Given the description of an element on the screen output the (x, y) to click on. 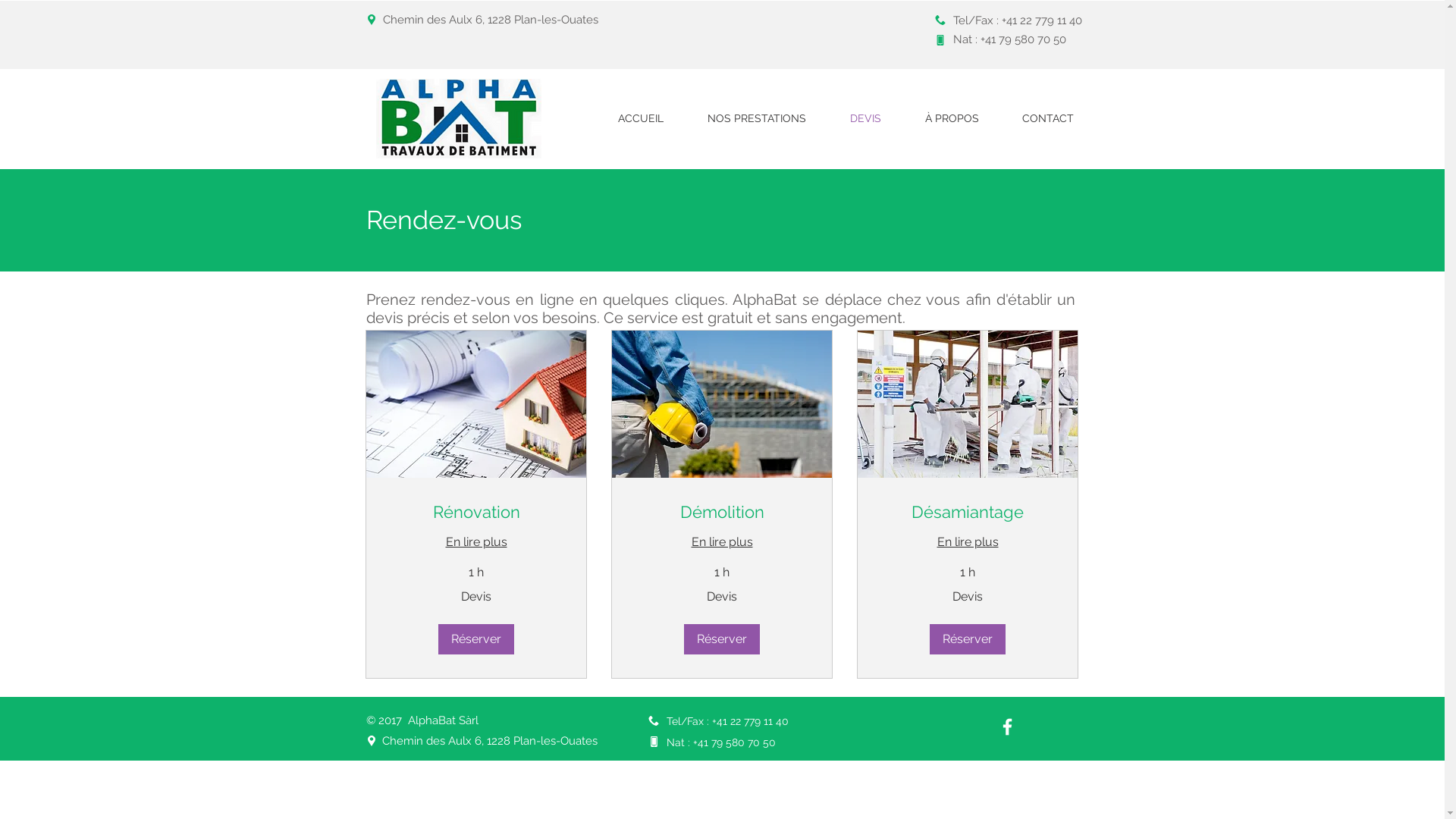
CONTACT Element type: text (1048, 118)
DEVIS Element type: text (865, 118)
En lire plus Element type: text (966, 542)
En lire plus Element type: text (721, 542)
NOS PRESTATIONS Element type: text (756, 118)
En lire plus Element type: text (475, 542)
ACCUEIL Element type: text (640, 118)
